Given the description of an element on the screen output the (x, y) to click on. 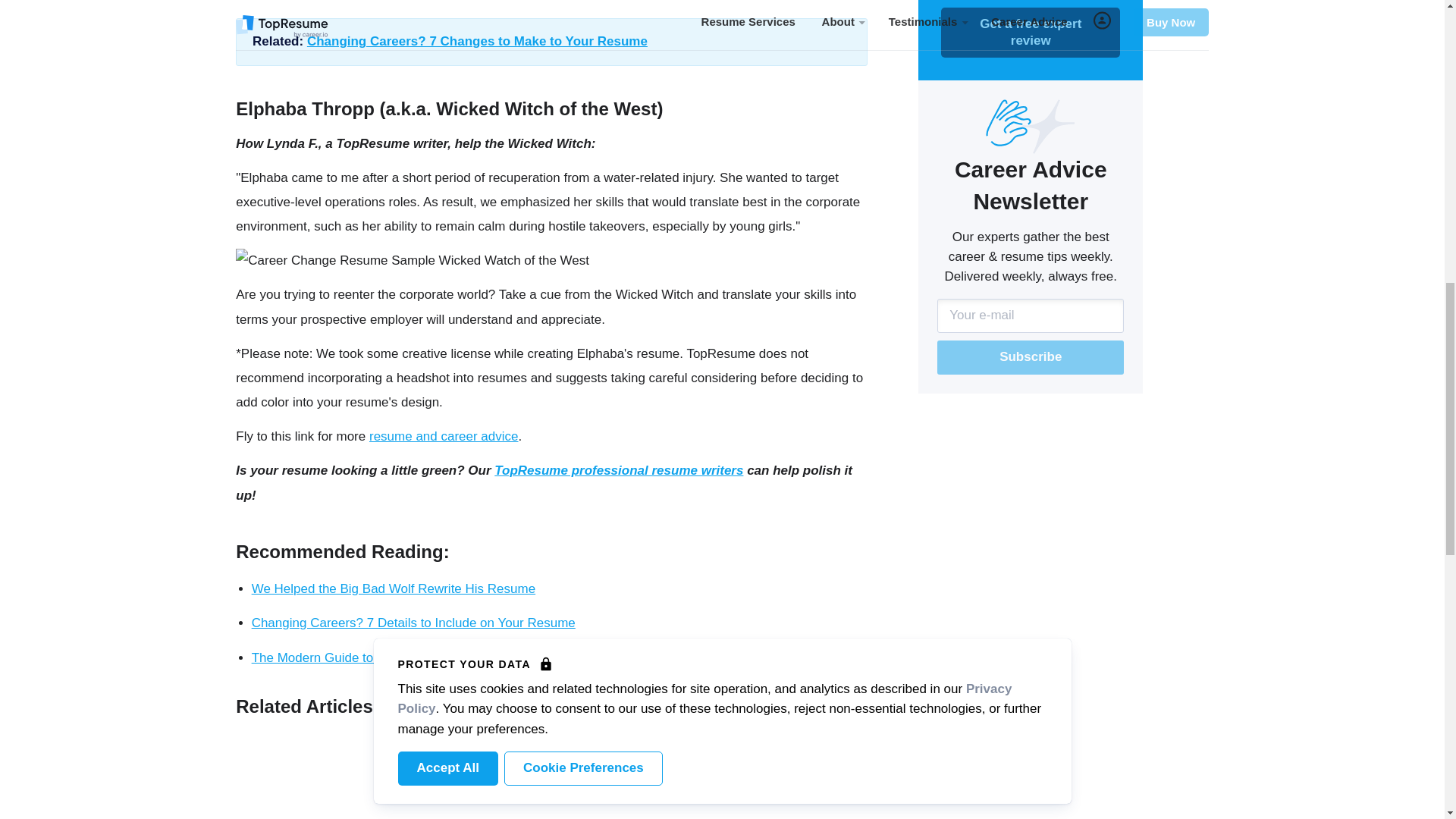
We Helped the Big Bad Wolf Rewrite His Resume (393, 588)
The Modern Guide to a Career Transition (368, 657)
Subscribe (1030, 357)
resume and career advice (443, 436)
Changing Careers? 7 Changes to Make to Your Resume (477, 41)
Get a free expert review (1029, 32)
TopResume professional resume writers (618, 470)
Changing Careers? 7 Details to Include on Your Resume (413, 622)
